Given the description of an element on the screen output the (x, y) to click on. 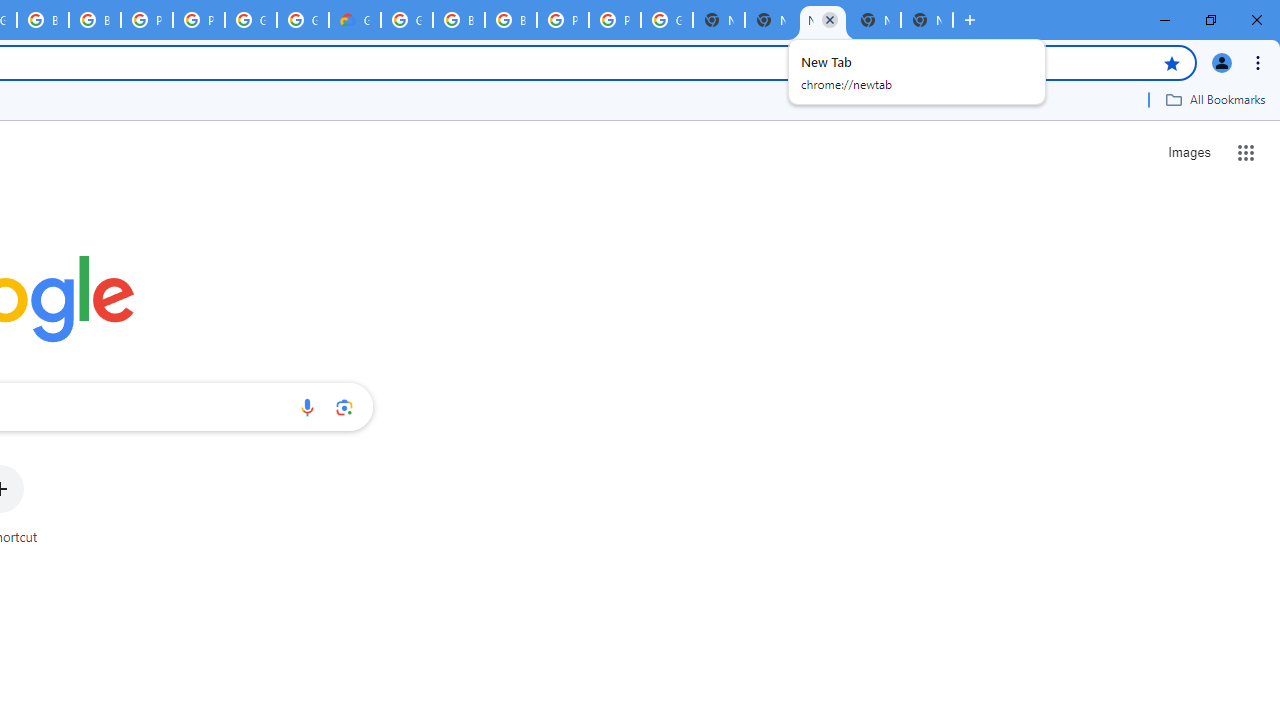
Google Cloud Platform (666, 20)
Google Cloud Platform (302, 20)
New Tab (822, 20)
Browse Chrome as a guest - Computer - Google Chrome Help (95, 20)
Google Cloud Platform (250, 20)
New Tab (927, 20)
